Given the description of an element on the screen output the (x, y) to click on. 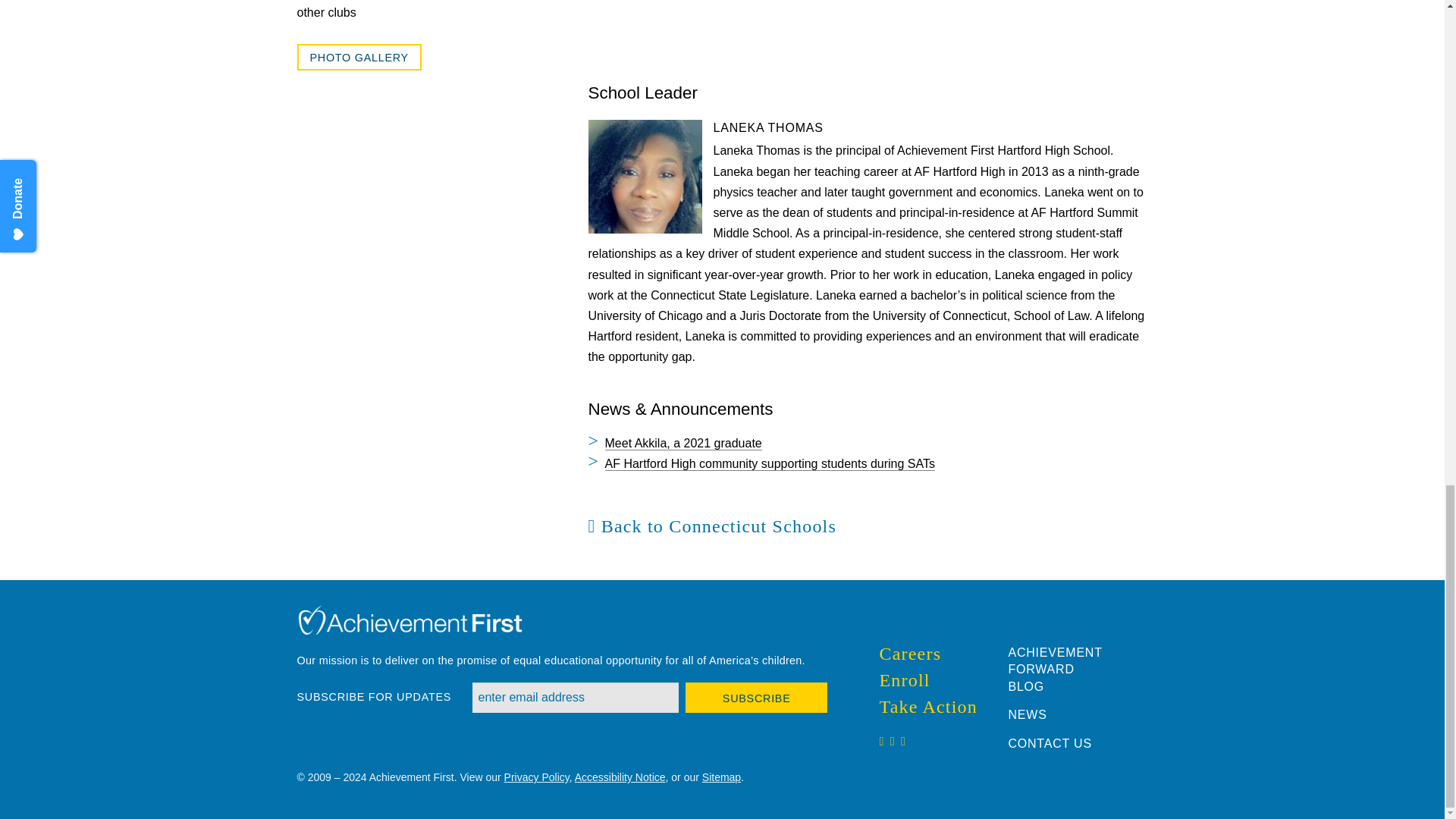
Subscribe (756, 697)
